Given the description of an element on the screen output the (x, y) to click on. 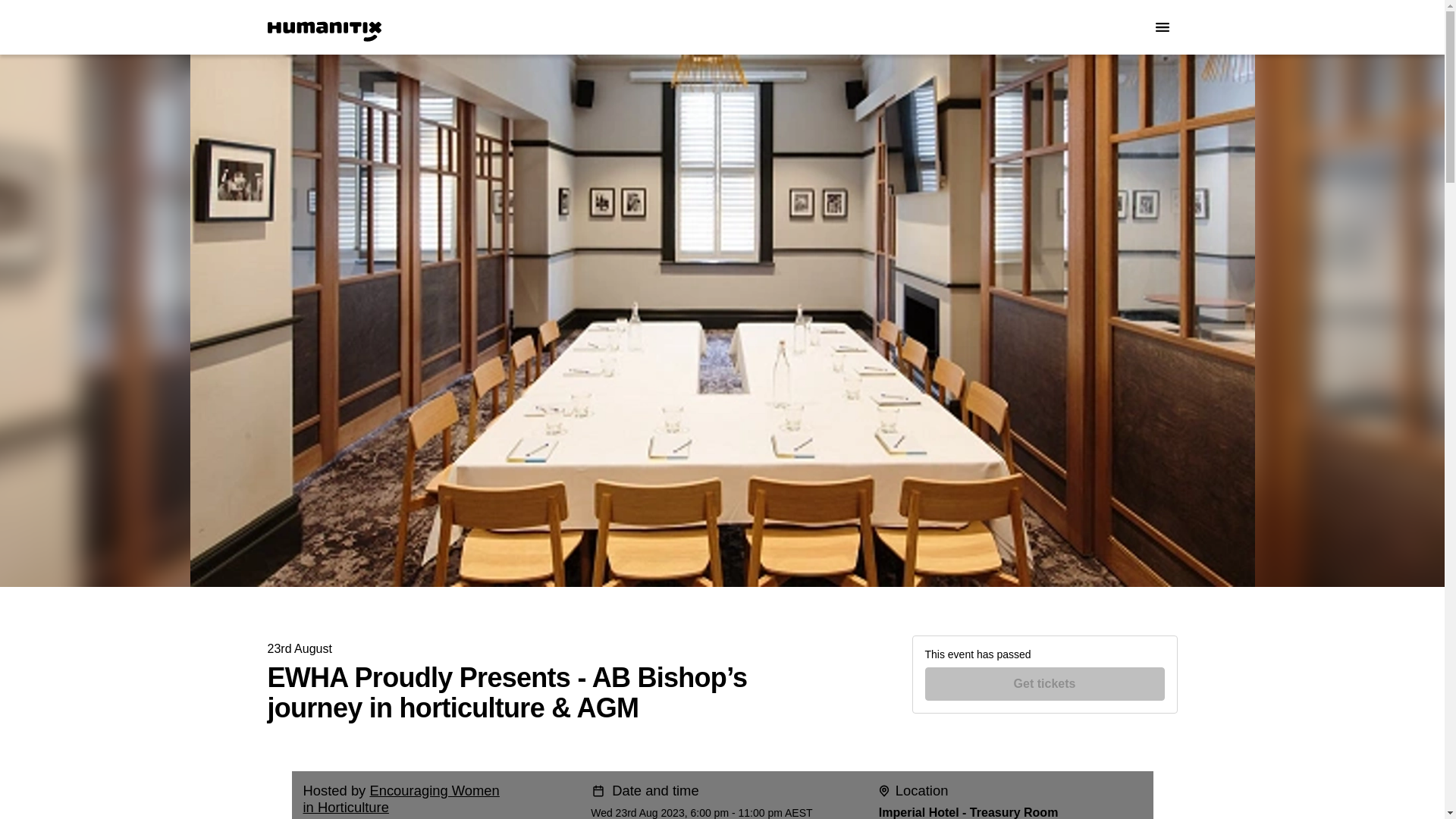
Skip to Content (18, 18)
Get tickets (1044, 684)
Encouraging Women in Horticulture (400, 798)
